Given the description of an element on the screen output the (x, y) to click on. 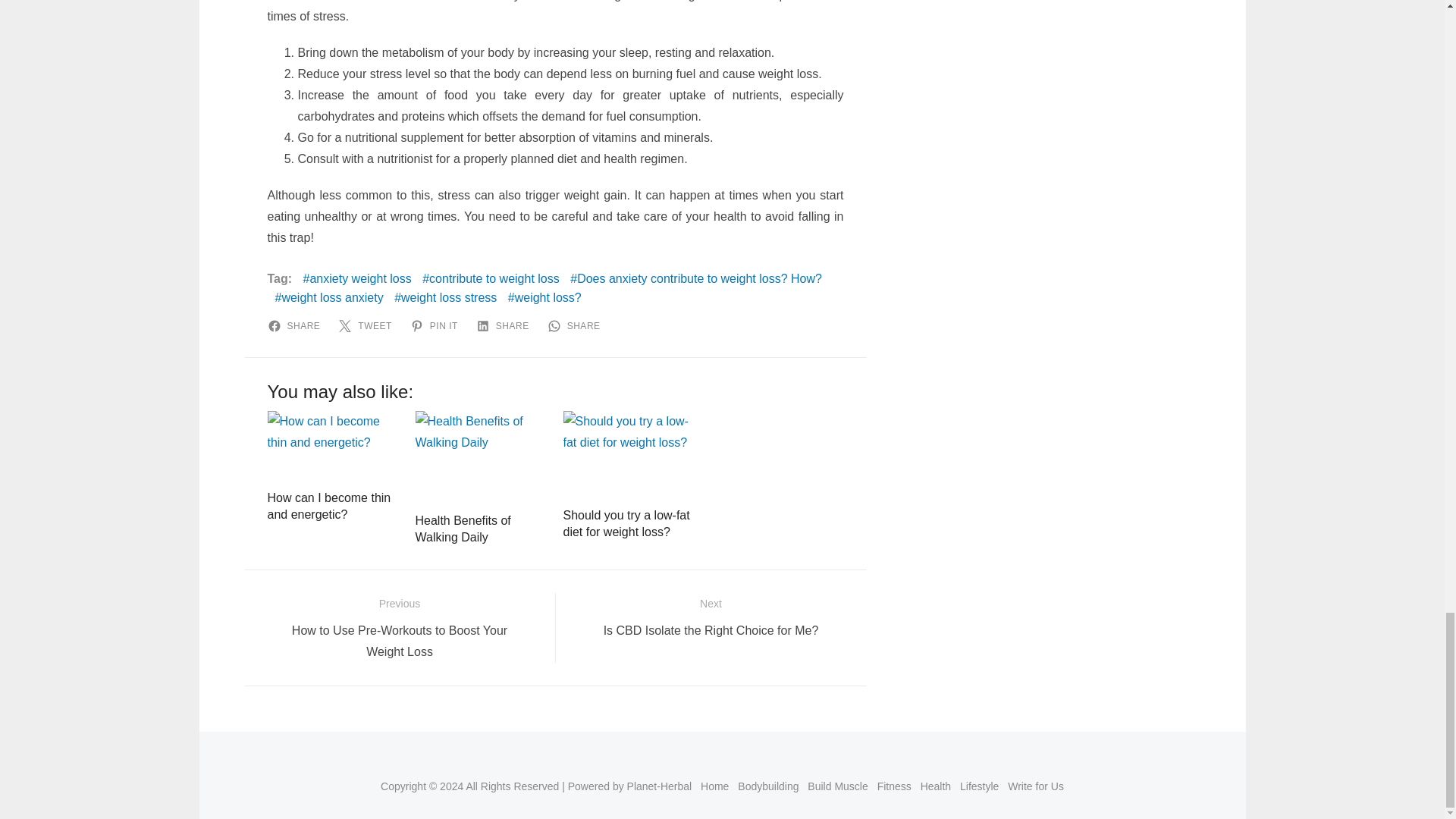
Share on LinkedIn (505, 325)
Share on Twitter (367, 325)
Share on Facebook (296, 325)
Share on WhatsApp (577, 325)
Share on Pinterest (437, 325)
